Given the description of an element on the screen output the (x, y) to click on. 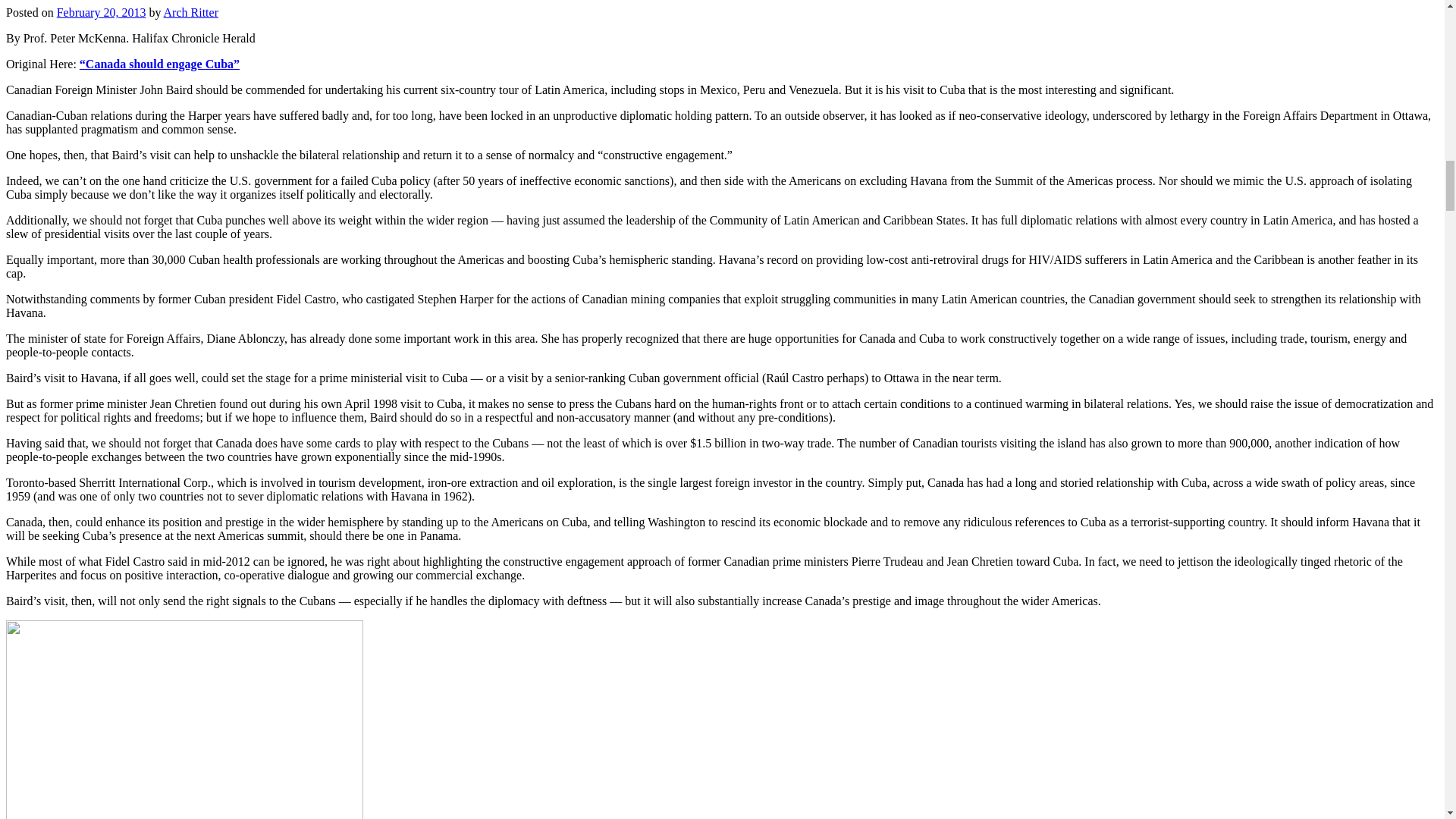
11:50 am (101, 11)
Arch Ritter (190, 11)
Peter McKenna (183, 719)
View all posts by Arch Ritter (190, 11)
February 20, 2013 (101, 11)
